Given the description of an element on the screen output the (x, y) to click on. 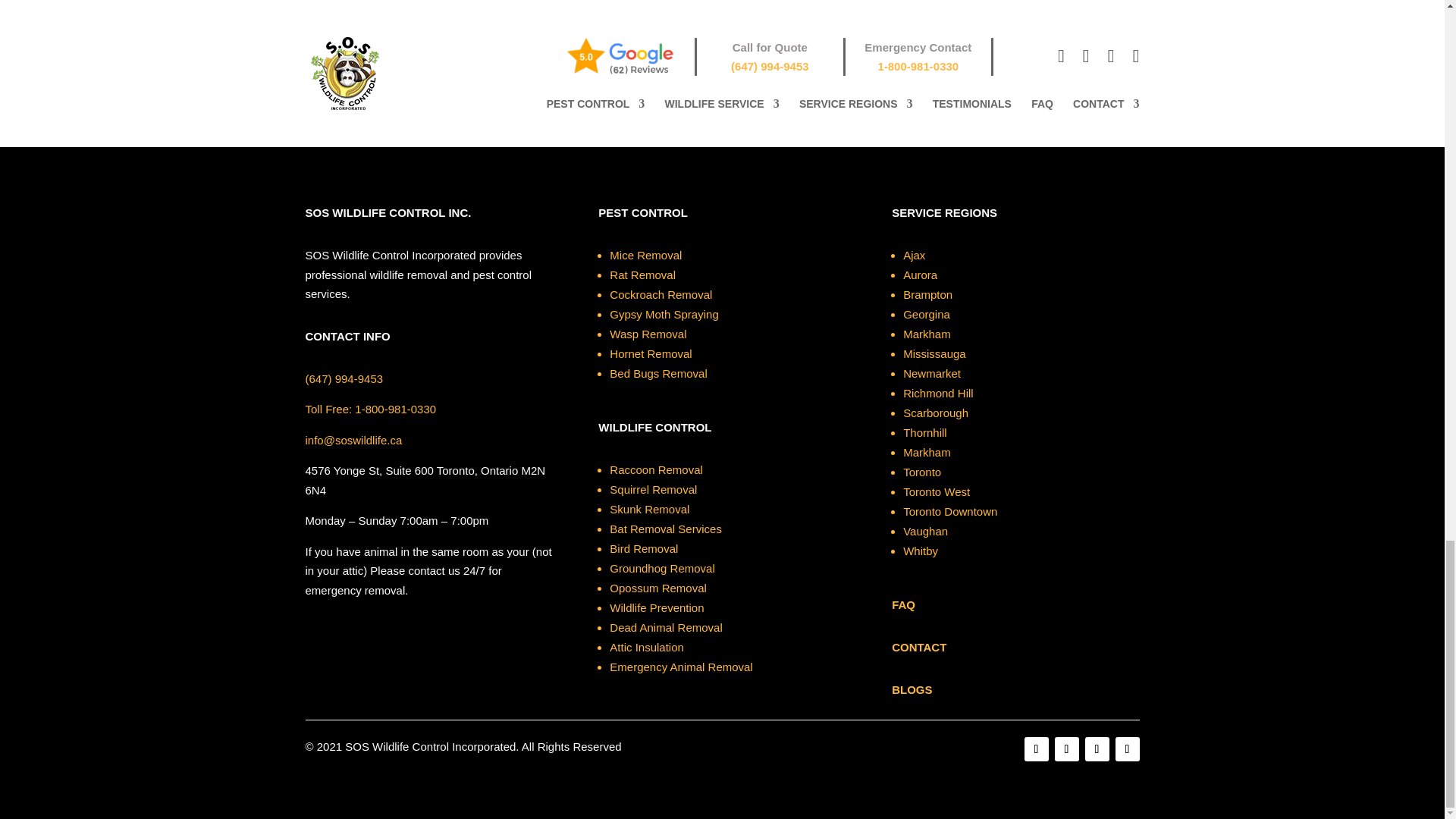
Follow on LinkedIn (1096, 749)
Follow on Facebook (1035, 749)
Follow on X (1066, 749)
Follow on Youtube (1126, 749)
